Given the description of an element on the screen output the (x, y) to click on. 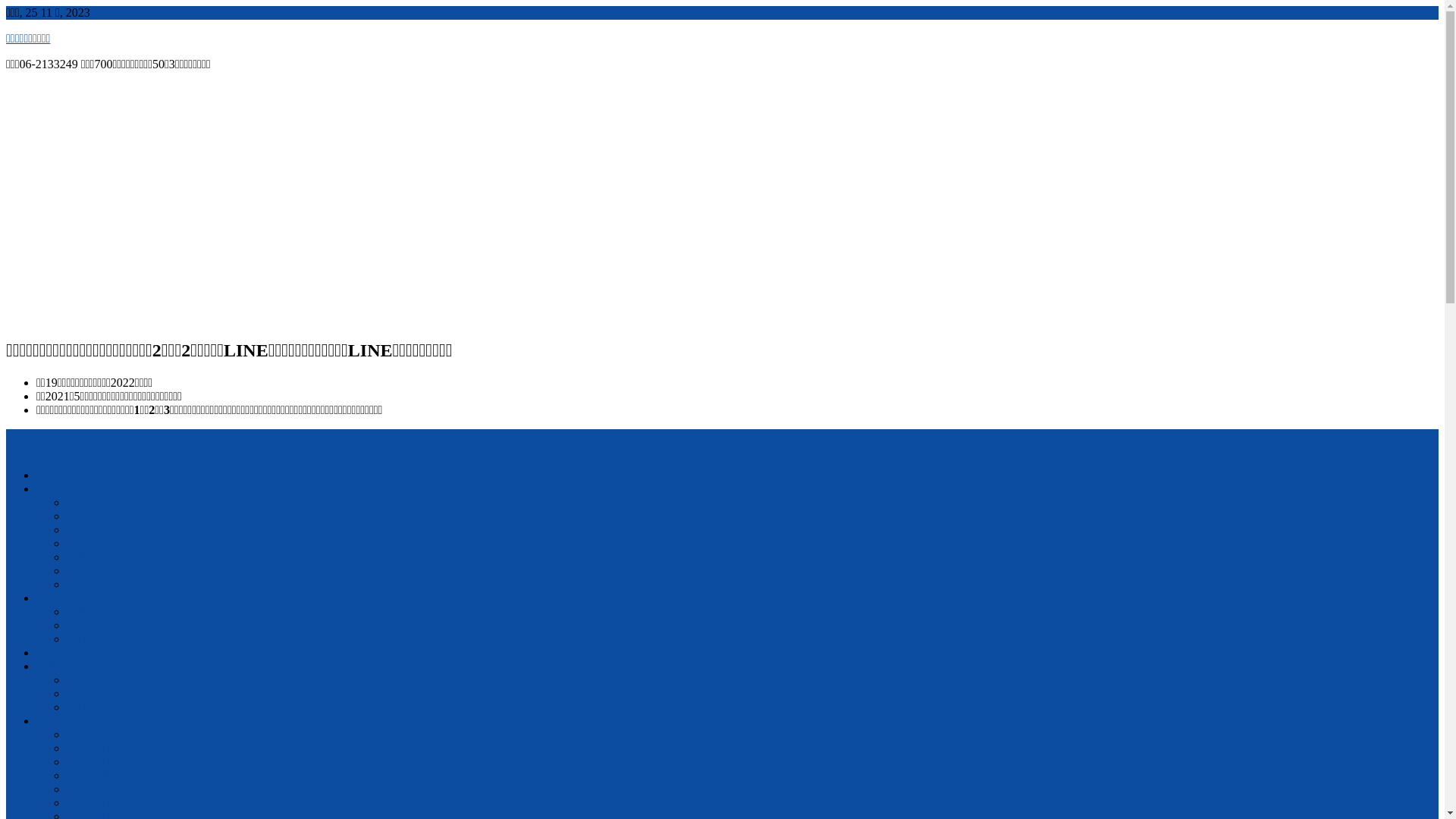
Skip to content Element type: text (5, 5)
YouTube video player Element type: hover (218, 202)
Menu Element type: text (11, 448)
